Given the description of an element on the screen output the (x, y) to click on. 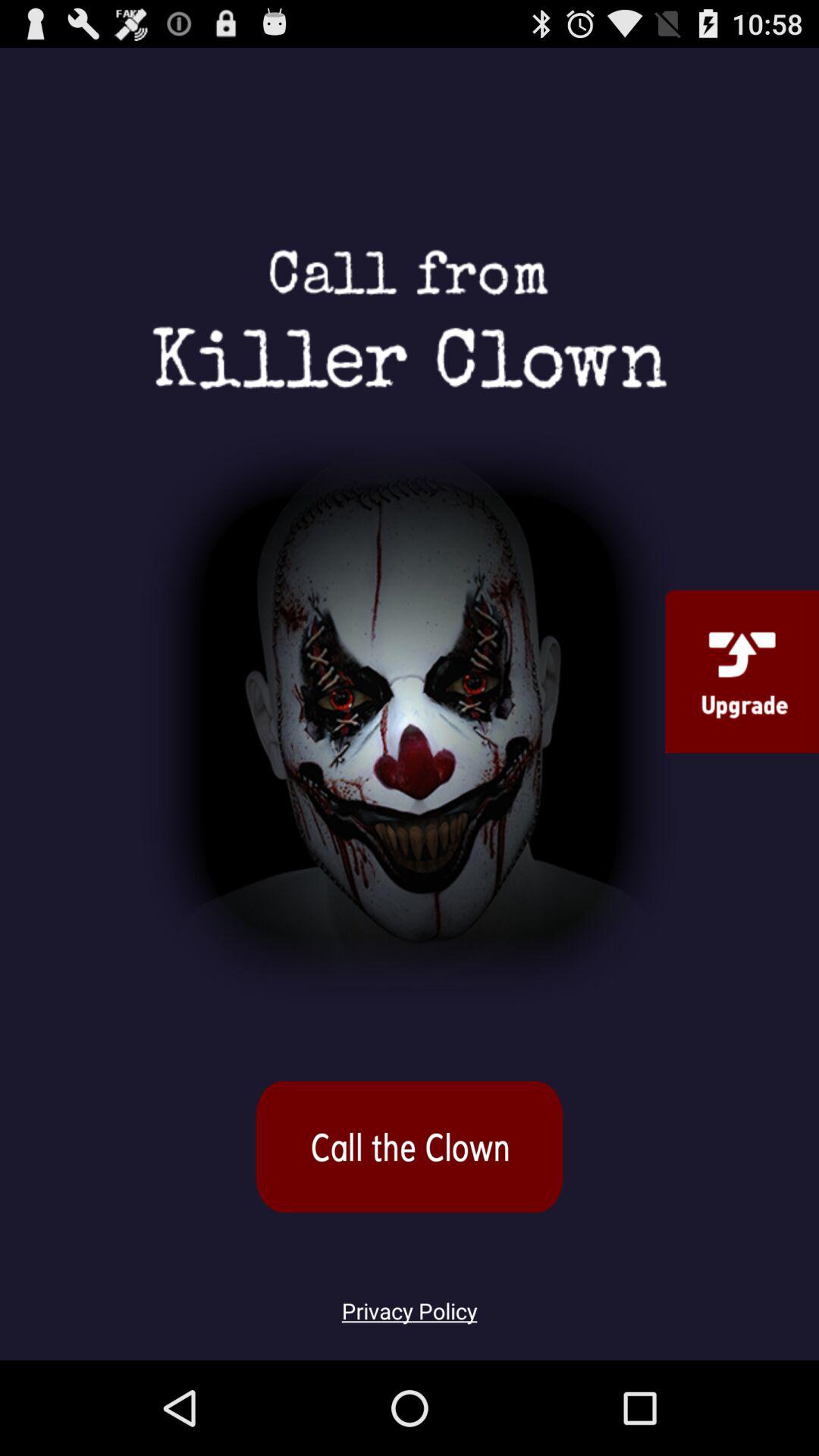
flip until the privacy policy item (409, 1302)
